Given the description of an element on the screen output the (x, y) to click on. 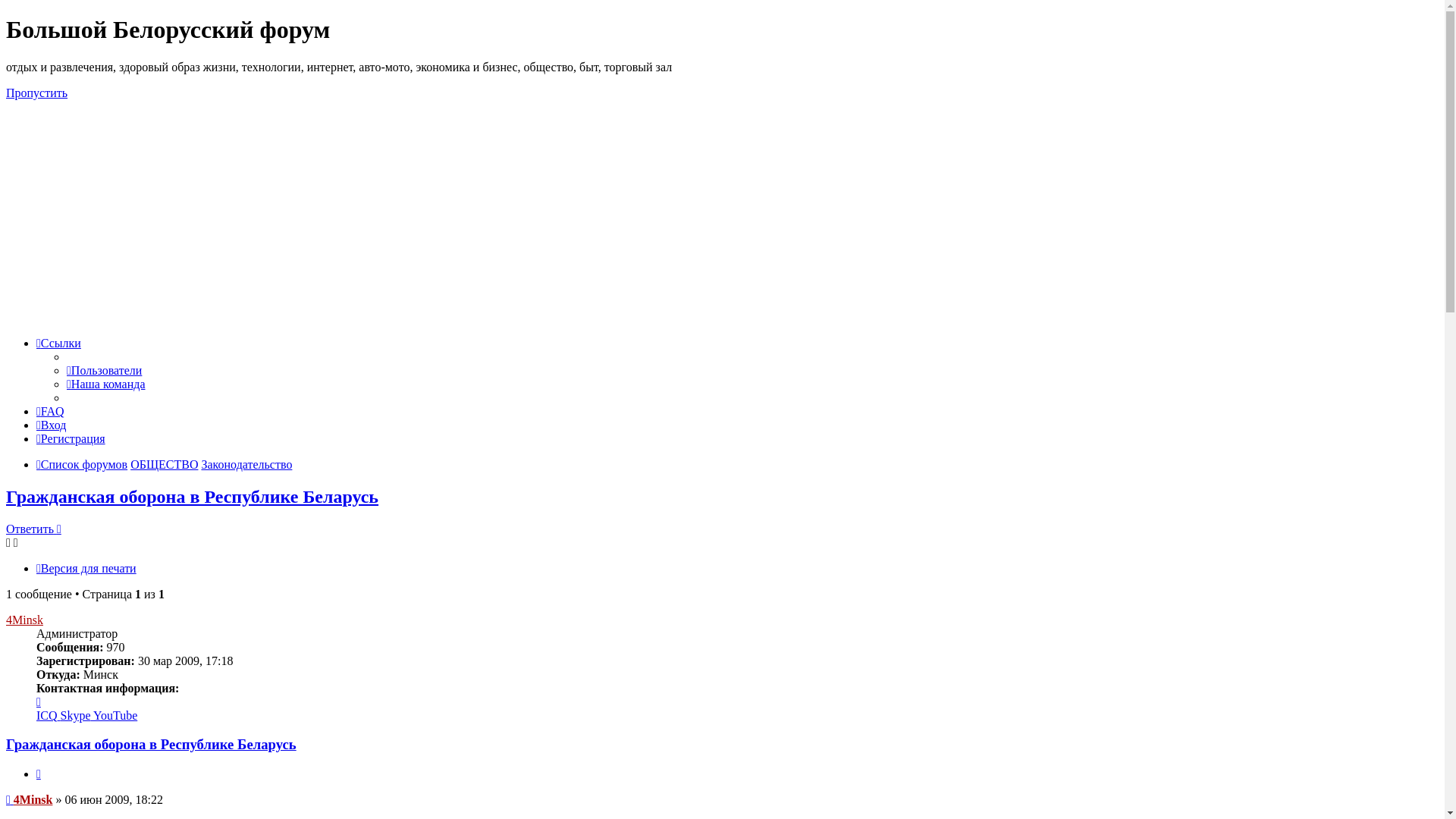
ICQ Element type: text (48, 715)
YouTube Element type: text (115, 715)
4Minsk Element type: text (24, 619)
FAQ Element type: text (50, 410)
Skype Element type: text (76, 715)
4Minsk Element type: text (33, 799)
